Given the description of an element on the screen output the (x, y) to click on. 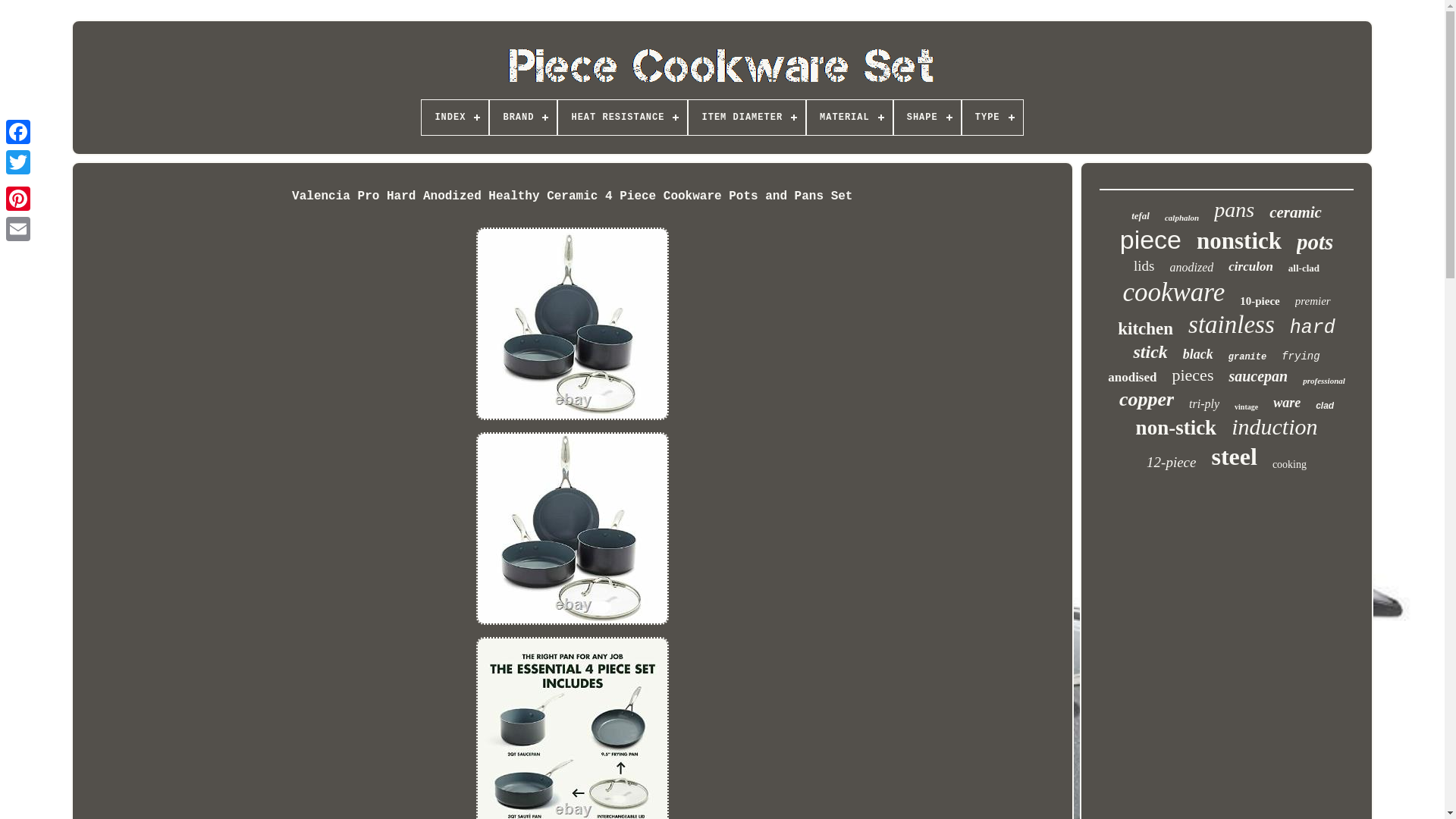
HEAT RESISTANCE (622, 117)
INDEX (454, 117)
BRAND (522, 117)
Facebook (17, 132)
